Given the description of an element on the screen output the (x, y) to click on. 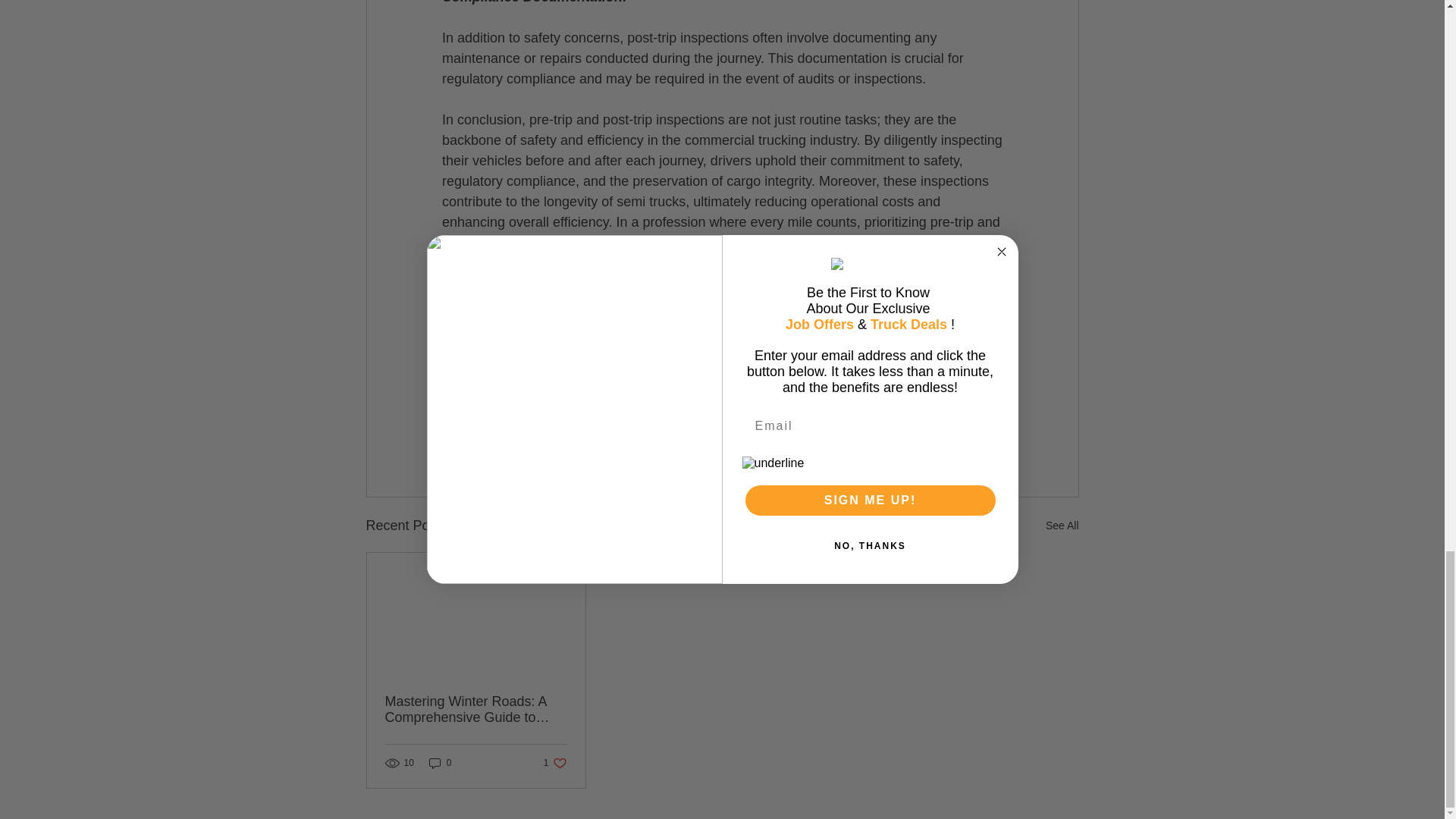
Trucking Challenges (499, 340)
Semi trucks (790, 340)
Inspections (870, 340)
See All (1061, 526)
Guide (722, 340)
Guide for Truck Drivers (990, 442)
0 (628, 340)
